Given the description of an element on the screen output the (x, y) to click on. 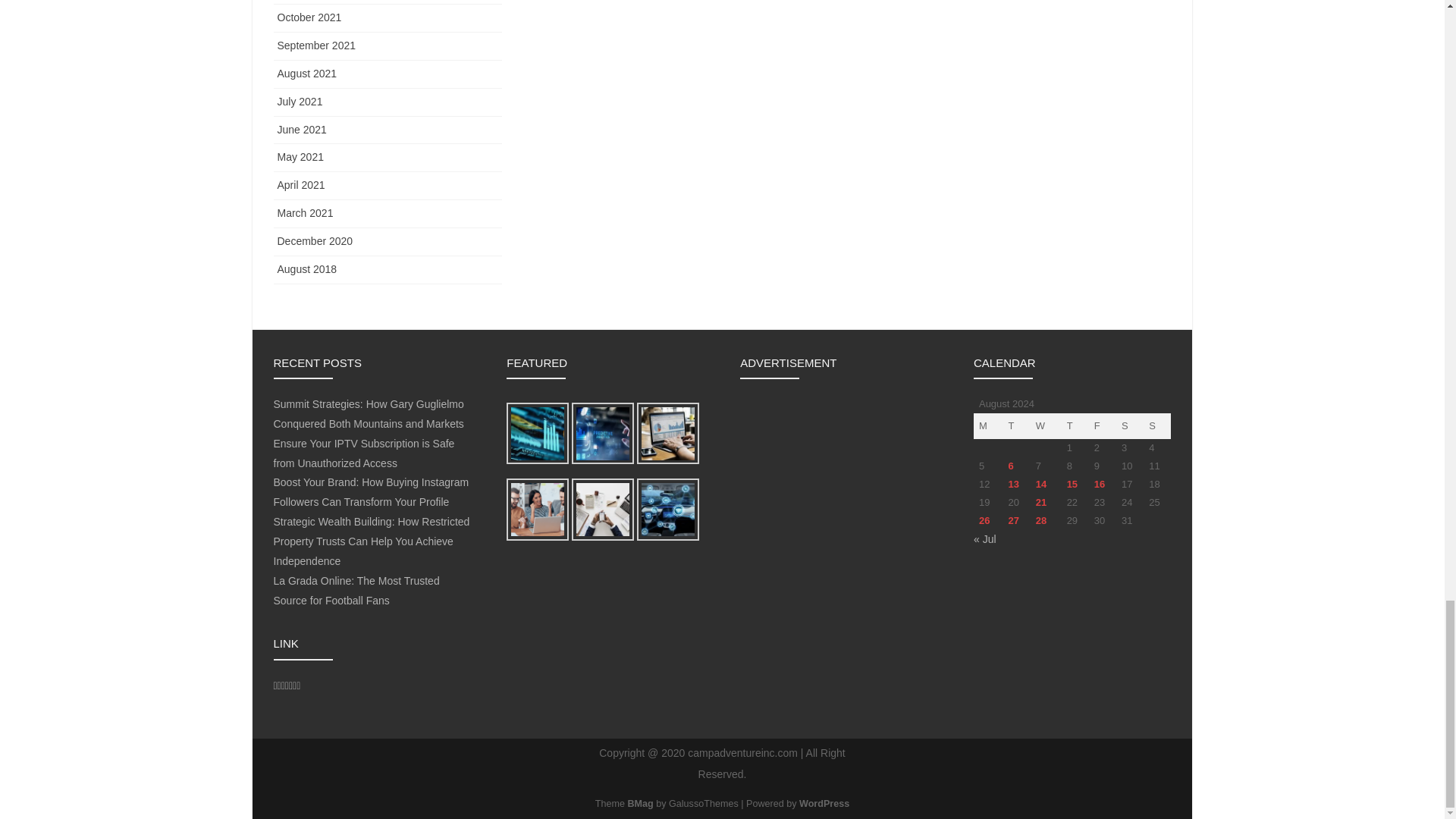
Wednesday (1045, 425)
Semantic Personal Publishing Platform (823, 803)
Monday (988, 425)
Thursday (1075, 425)
Saturday (1129, 425)
Tuesday (1016, 425)
Sunday (1156, 425)
Friday (1102, 425)
